Given the description of an element on the screen output the (x, y) to click on. 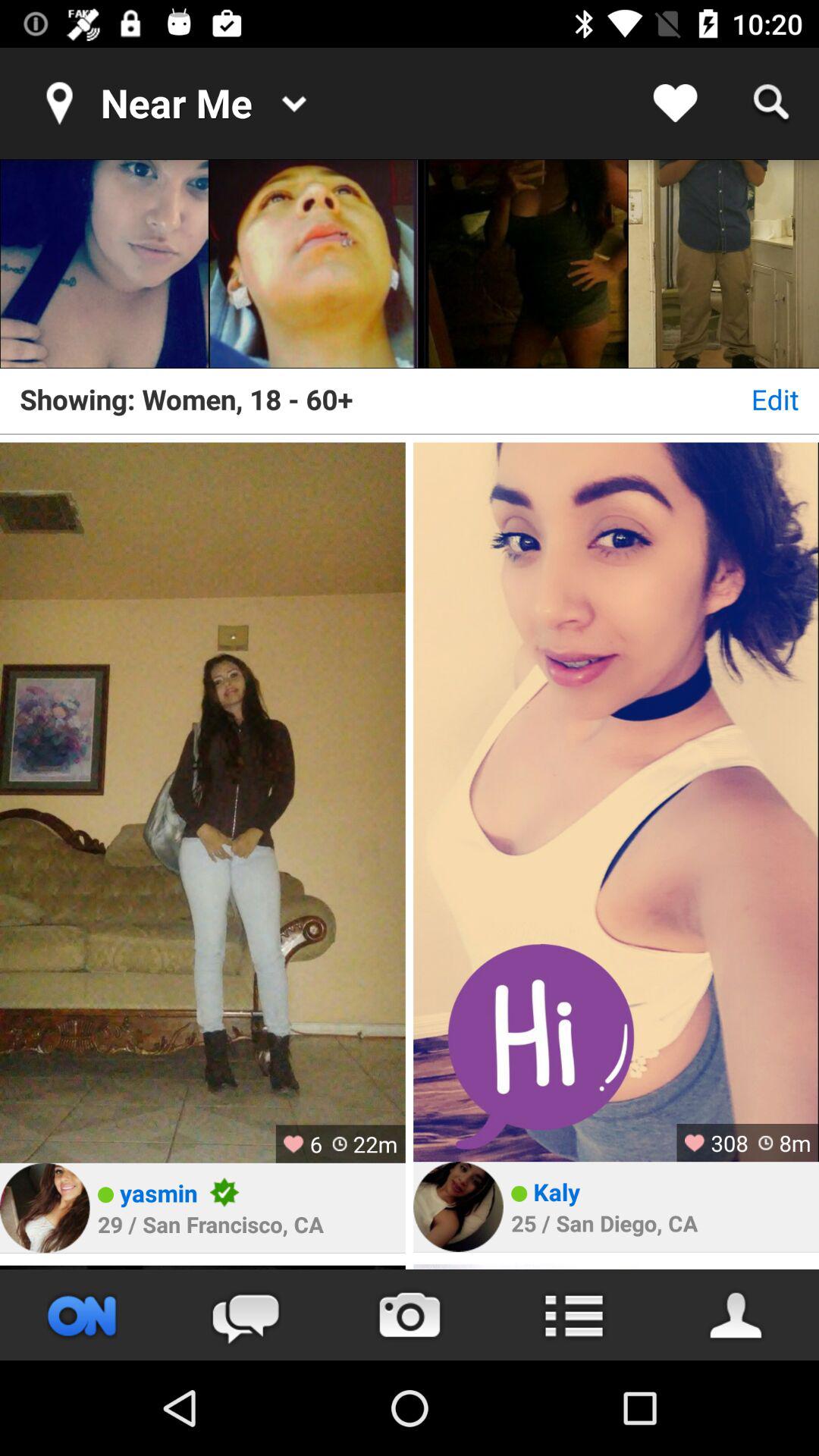
press item above the showing women 18 icon (723, 263)
